Given the description of an element on the screen output the (x, y) to click on. 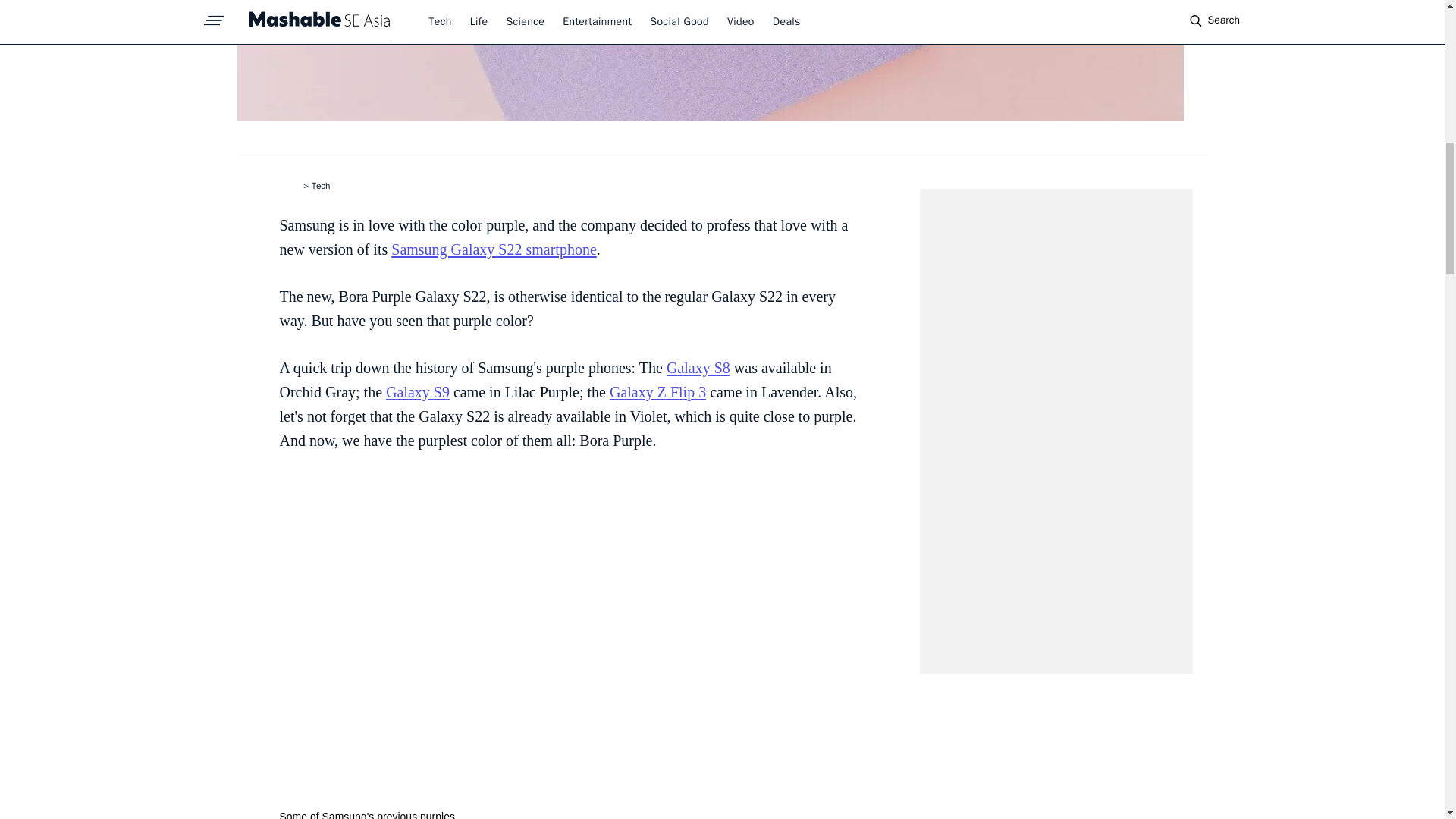
Galaxy S8 (698, 367)
Galaxy Z Flip 3 (658, 392)
Galaxy S9 (417, 392)
Samsung Galaxy S22 smartphone (493, 248)
